Given the description of an element on the screen output the (x, y) to click on. 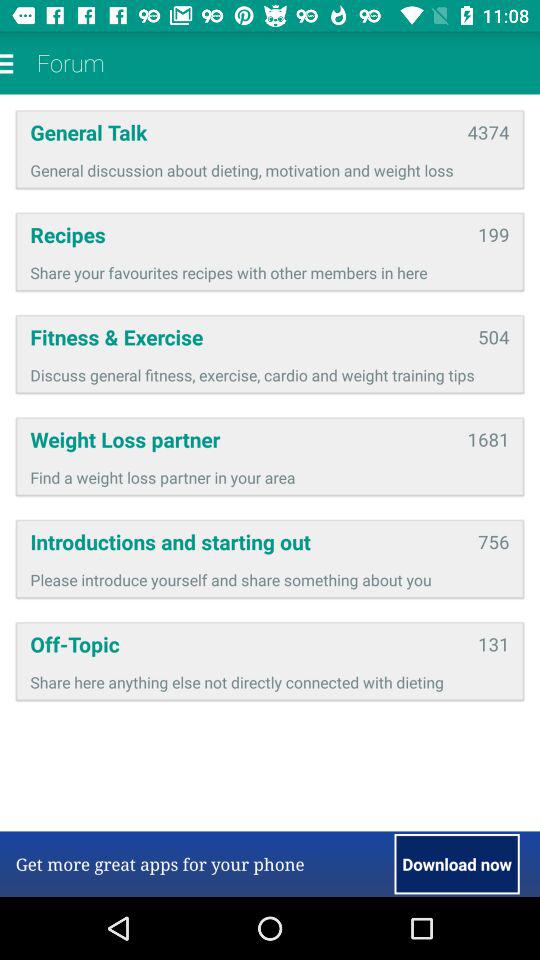
press discuss general fitness (269, 374)
